Given the description of an element on the screen output the (x, y) to click on. 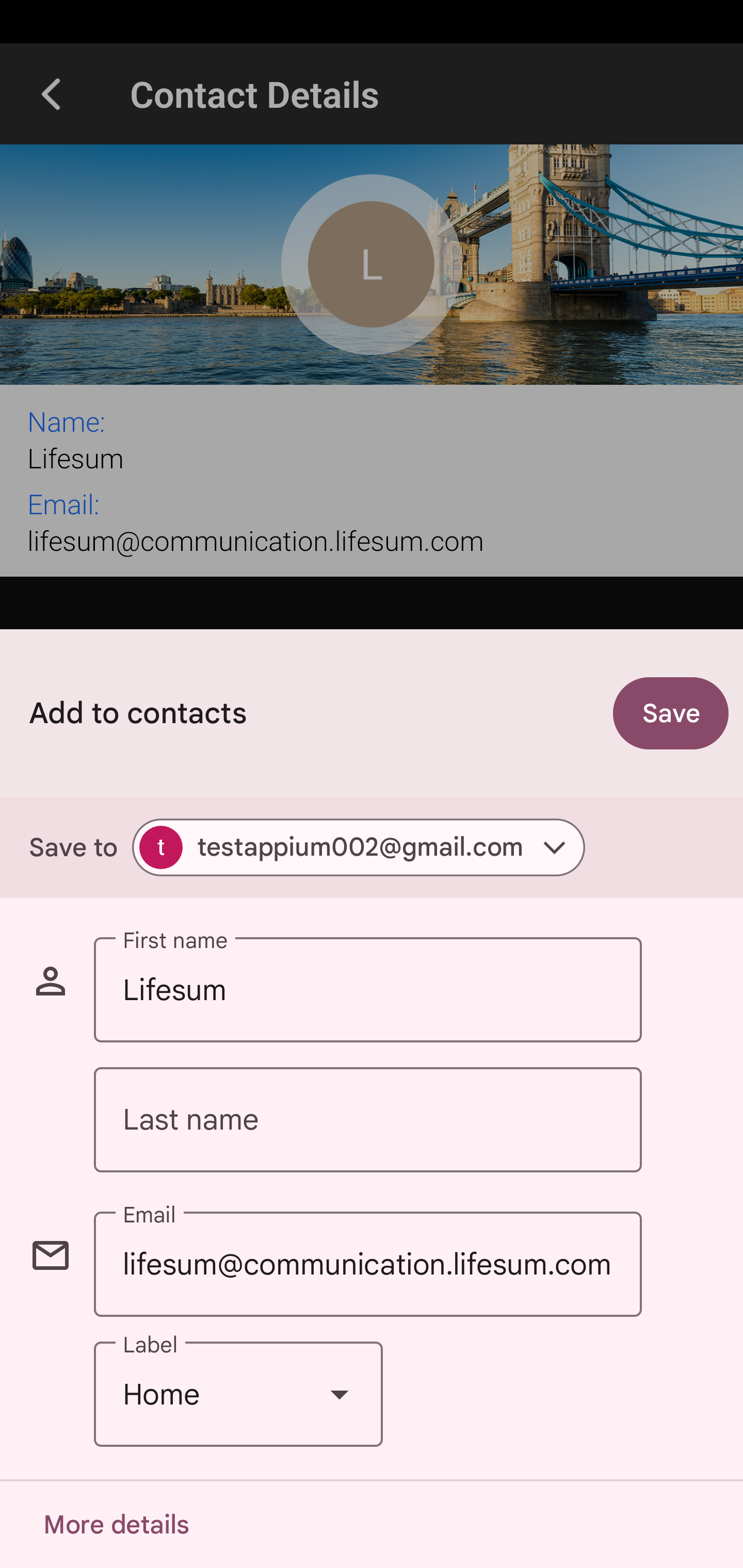
Save (670, 713)
Lifesum (367, 989)
Last name (367, 1119)
lifesum@communication.lifesum.com (367, 1264)
Home Home Email (237, 1394)
Show dropdown menu (339, 1394)
More details (116, 1524)
